Given the description of an element on the screen output the (x, y) to click on. 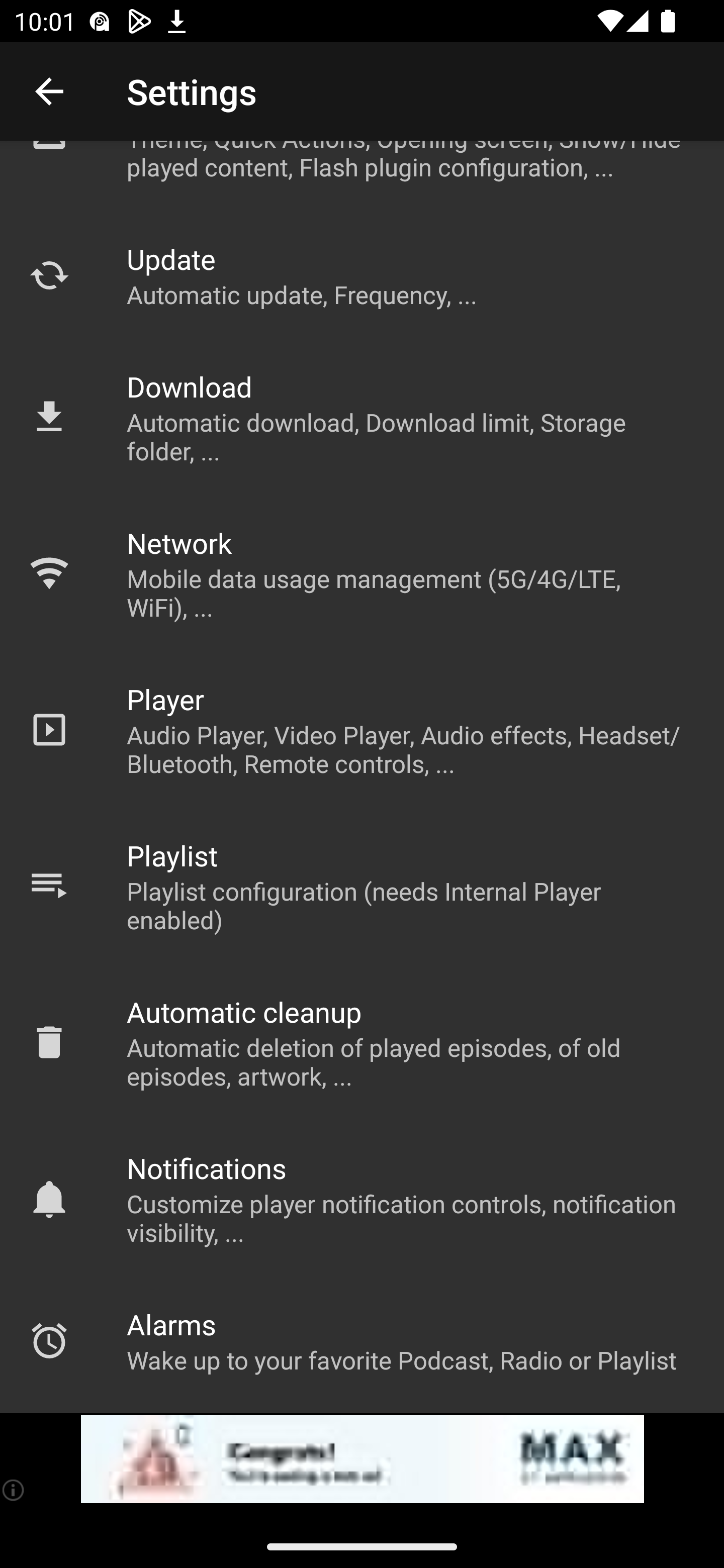
Navigate up (49, 91)
Update Automatic update, Frequency, ... (362, 274)
app-monetization (362, 1459)
(i) (14, 1489)
